Given the description of an element on the screen output the (x, y) to click on. 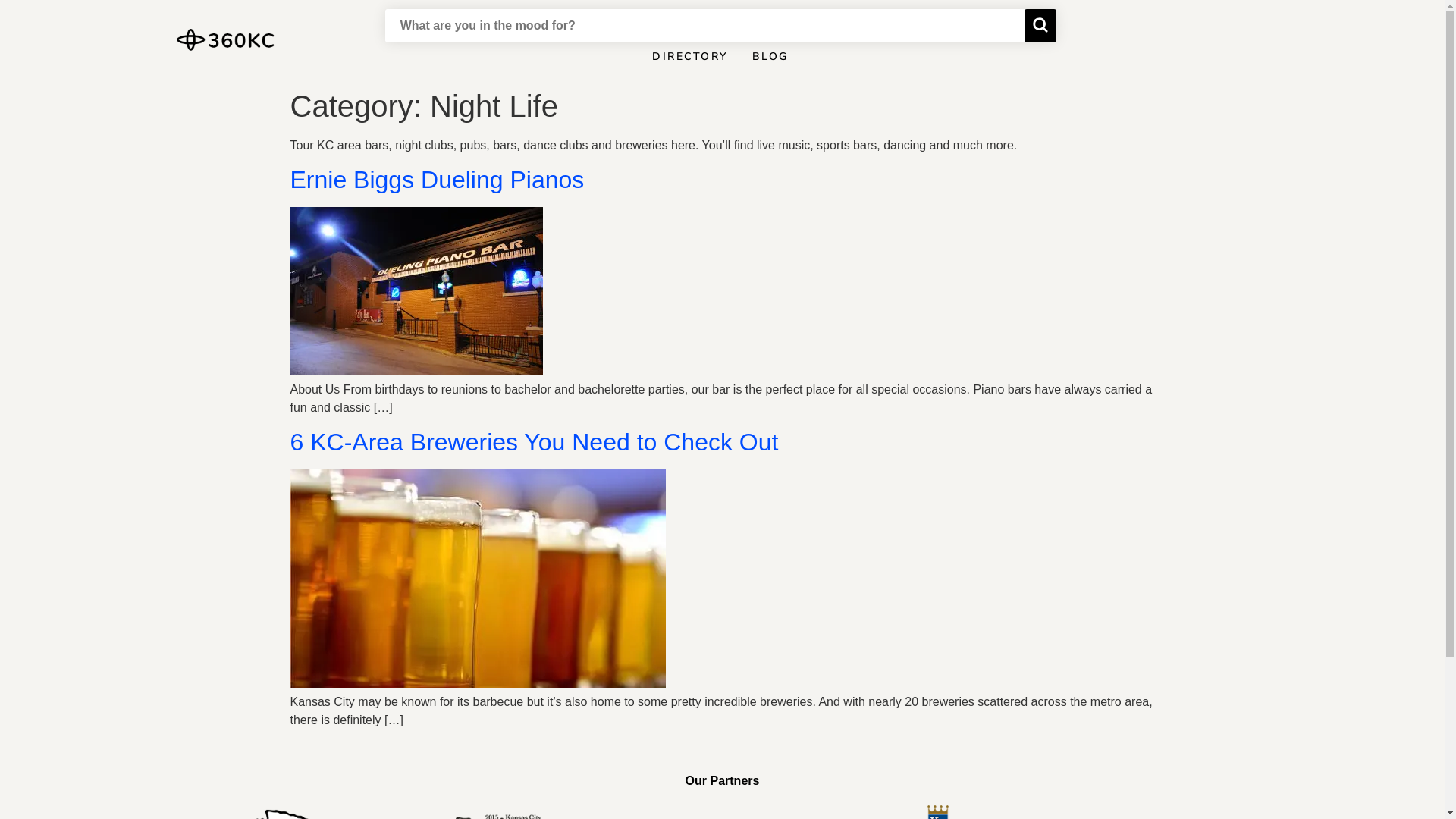
BLOG Element type: text (770, 60)
6 KC-Area Breweries You Need to Check Out Element type: text (533, 441)
DIRECTORY Element type: text (690, 60)
Ernie Biggs Dueling Pianos Element type: text (436, 179)
